Given the description of an element on the screen output the (x, y) to click on. 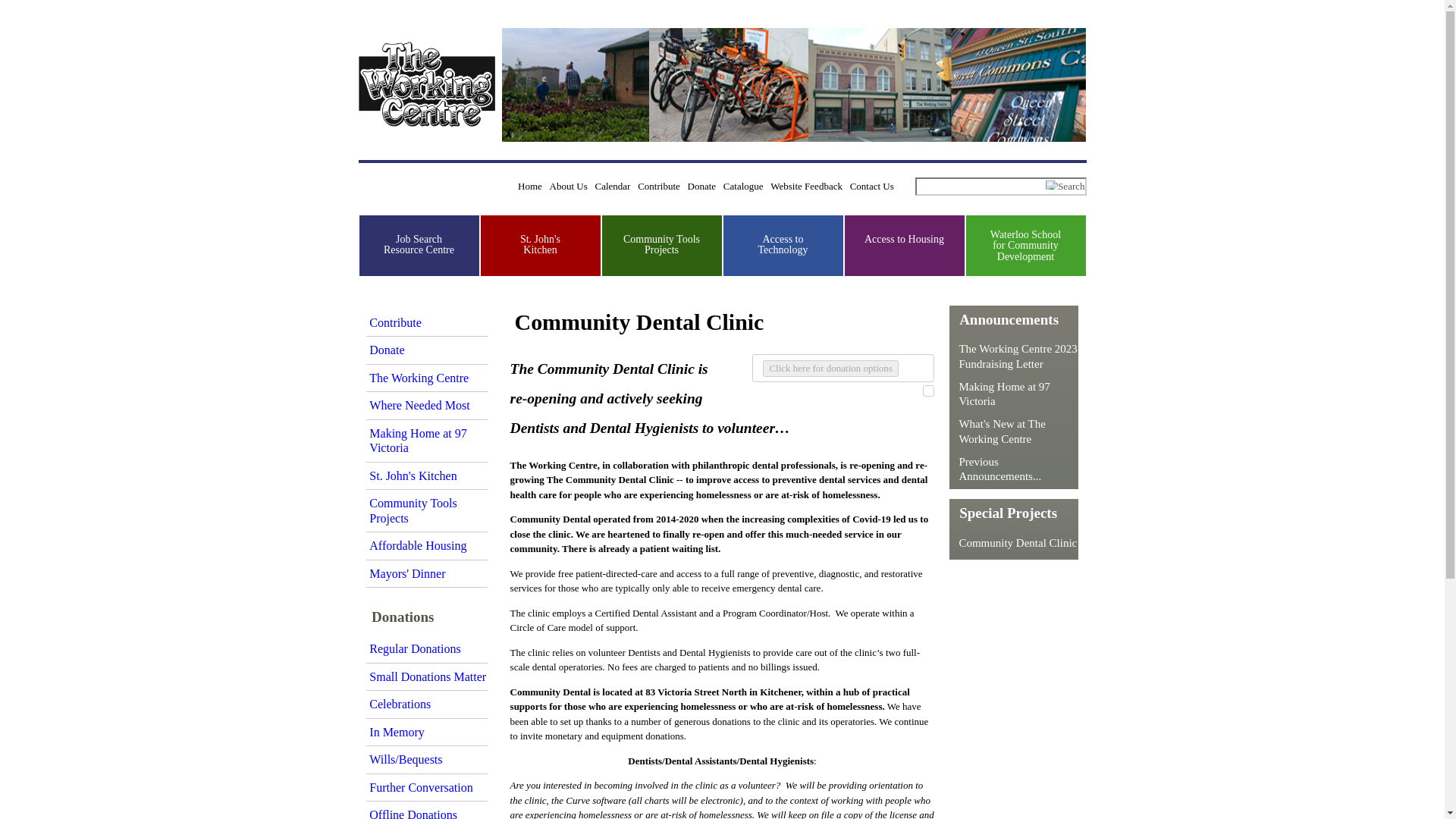
Making Home at 97 Victoria (417, 440)
Access to Housing (903, 238)
Click here for donation options (830, 368)
Where Needed Most (418, 404)
Contact Us (871, 185)
Website Feedback (806, 185)
Catalogue (742, 185)
Click here for donation options (830, 368)
Waterloo School for Community Development (1025, 245)
Contribute (658, 185)
